Given the description of an element on the screen output the (x, y) to click on. 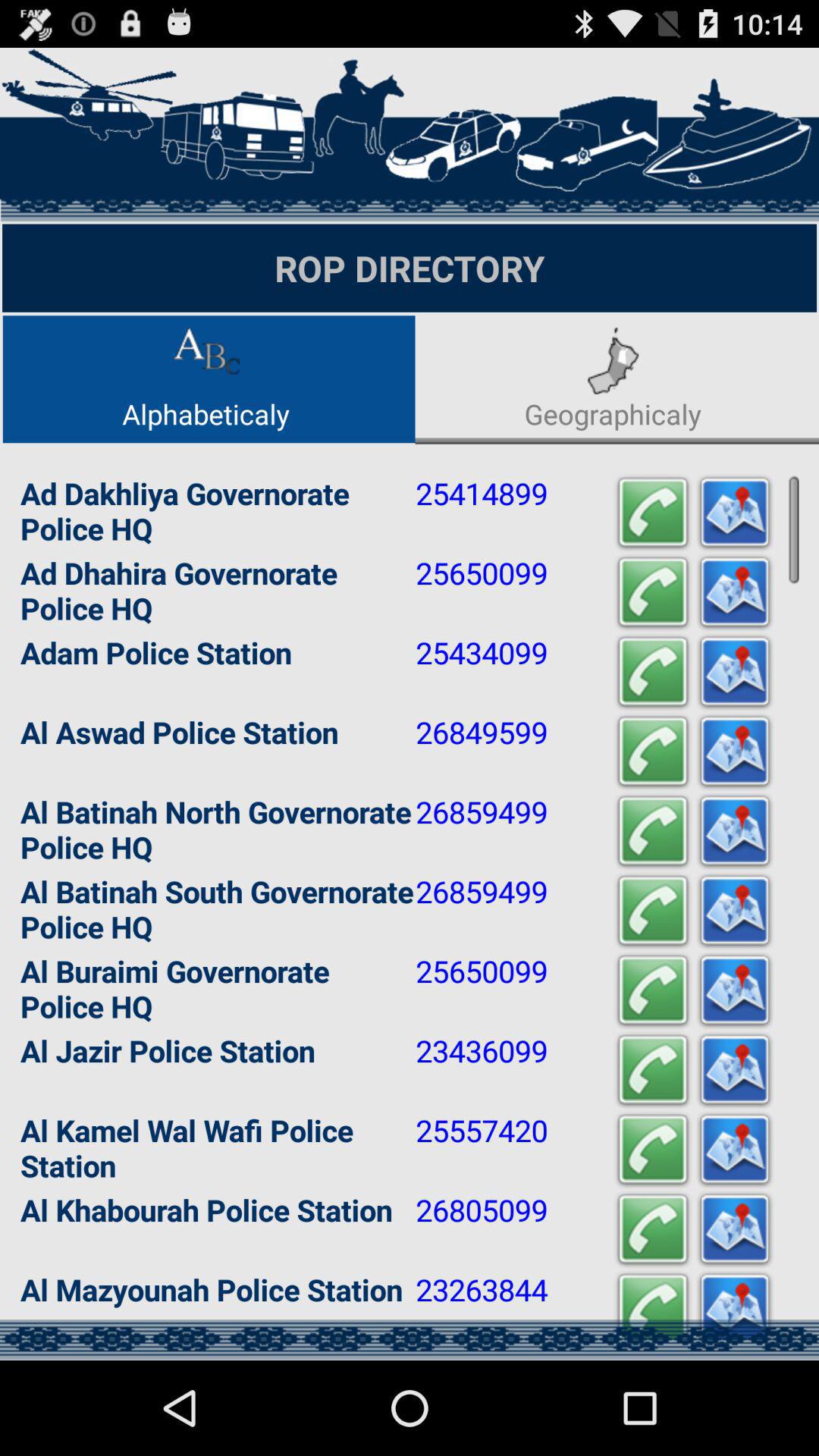
call the police station (652, 1070)
